Given the description of an element on the screen output the (x, y) to click on. 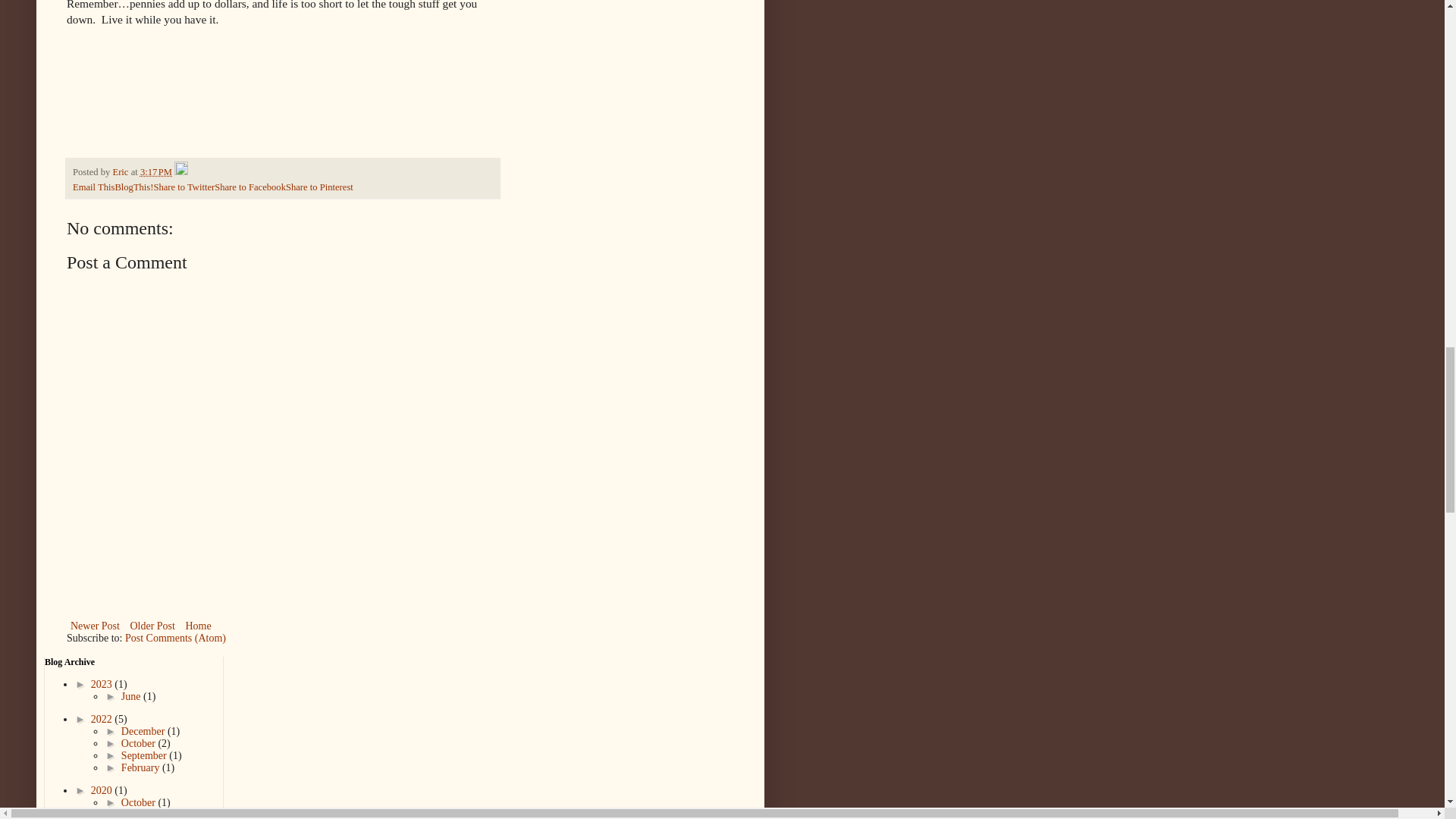
Share to Twitter (183, 186)
Home (197, 625)
Email This (93, 186)
Older Post (152, 625)
author profile (121, 172)
2020 (102, 790)
permanent link (155, 172)
2022 (102, 718)
BlogThis! (133, 186)
2023 (102, 684)
Share to Pinterest (319, 186)
BlogThis! (133, 186)
Newer Post (94, 625)
October (139, 743)
Eric (121, 172)
